Given the description of an element on the screen output the (x, y) to click on. 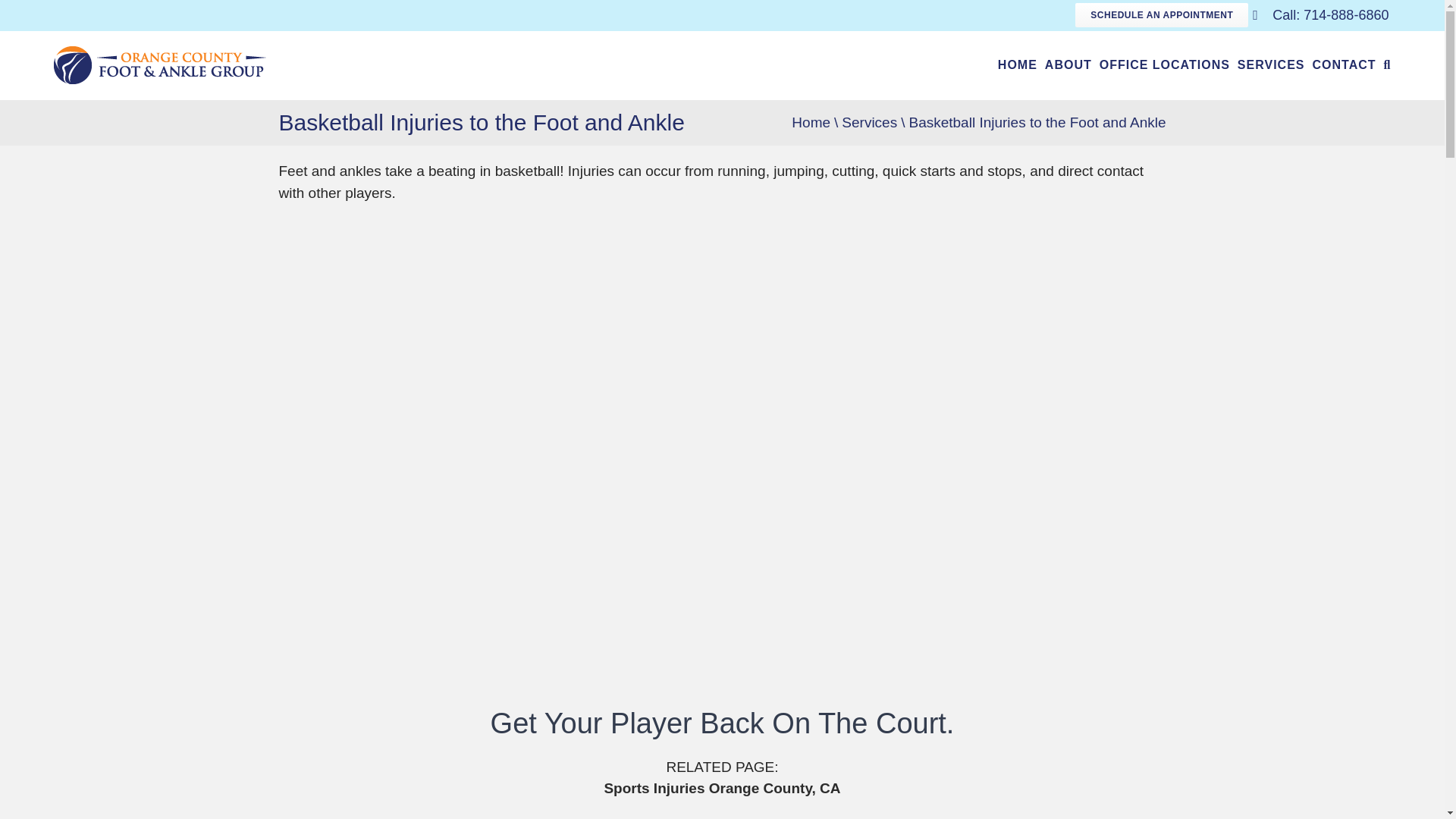
OFFICE LOCATIONS (1164, 65)
SERVICES (1270, 65)
CONTACT (1343, 65)
SCHEDULE AN APPOINTMENT (1161, 15)
Call: 714-888-6860 (1320, 15)
Sports Injuries to the Foot and Ankle (722, 788)
